Given the description of an element on the screen output the (x, y) to click on. 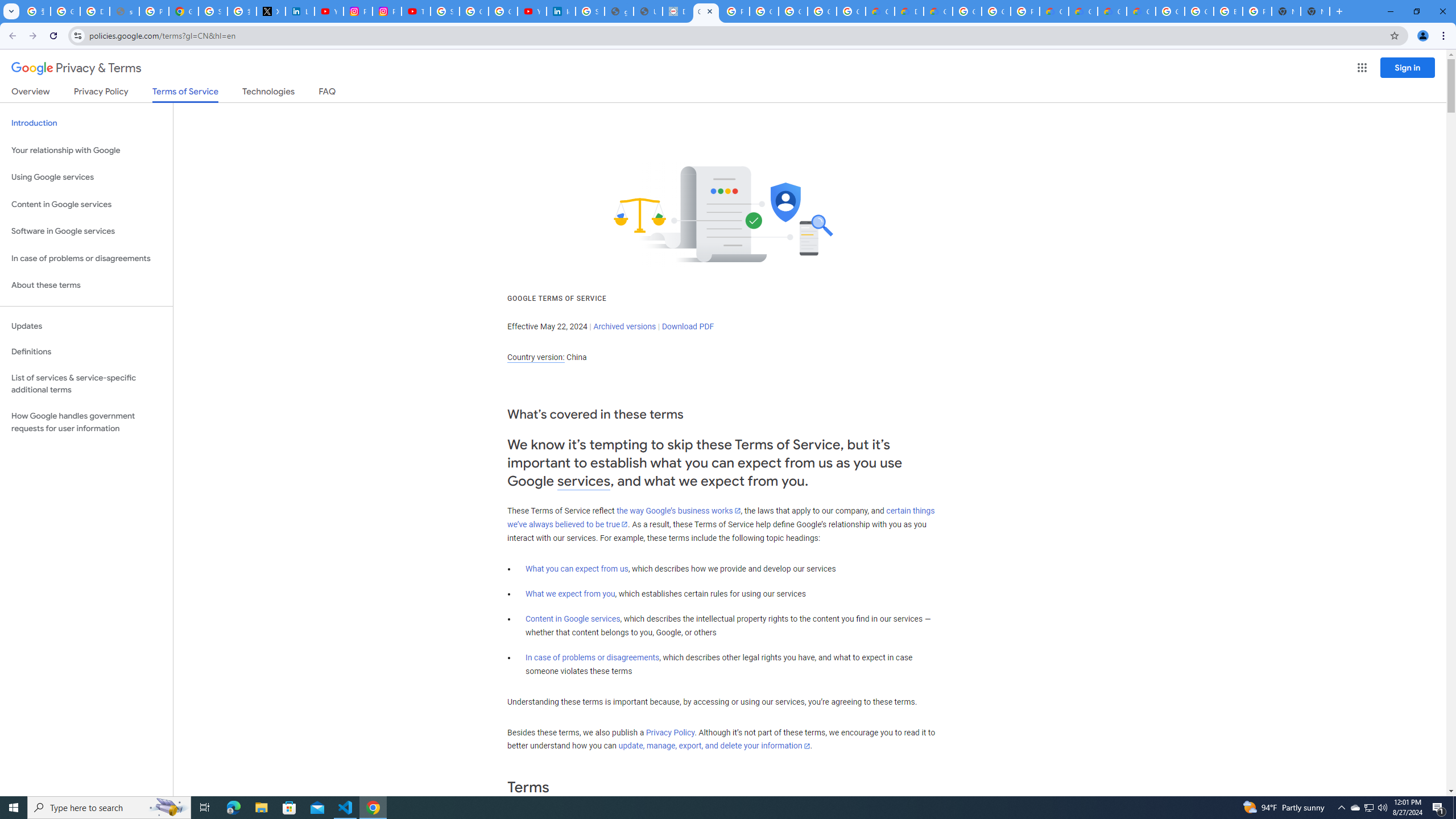
Google Cloud Platform (996, 11)
Google Workspace - Specific Terms (850, 11)
Google Cloud Platform (967, 11)
How Google handles government requests for user information (86, 422)
Google Cloud Pricing Calculator (1111, 11)
Definitions (86, 352)
